Given the description of an element on the screen output the (x, y) to click on. 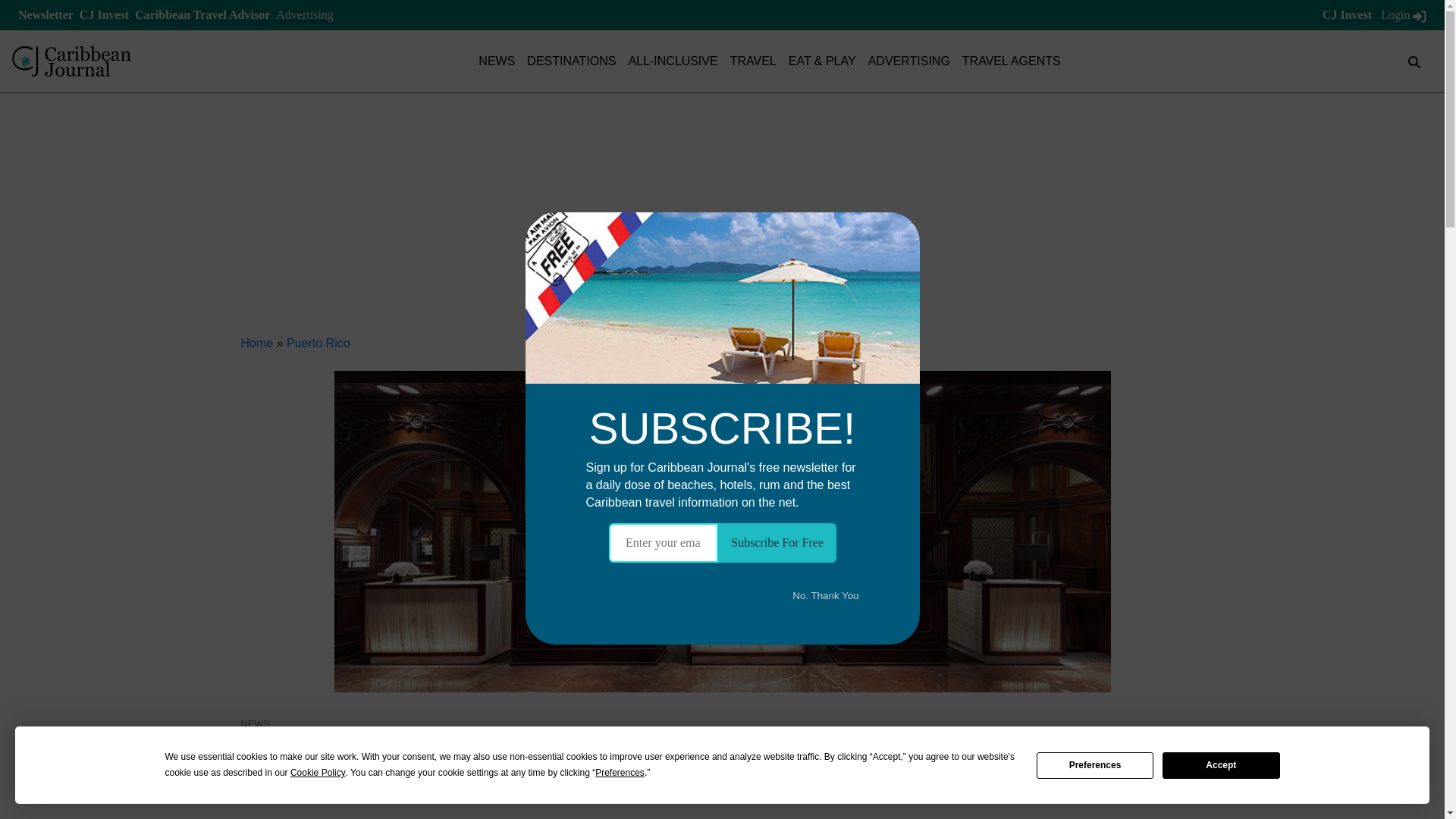
ALL-INCLUSIVE (672, 60)
NEWS (497, 60)
Advertising (304, 14)
DESTINATIONS (571, 60)
CJ Invest (104, 14)
Cookie Policy (317, 772)
Login (1403, 14)
Preferences (1094, 765)
Caribbean Travel Advisor (202, 14)
ADVERTISING (908, 60)
TRAVEL (753, 60)
Accept (1220, 765)
TRAVEL AGENTS (1011, 60)
Preferences (620, 772)
